Given the description of an element on the screen output the (x, y) to click on. 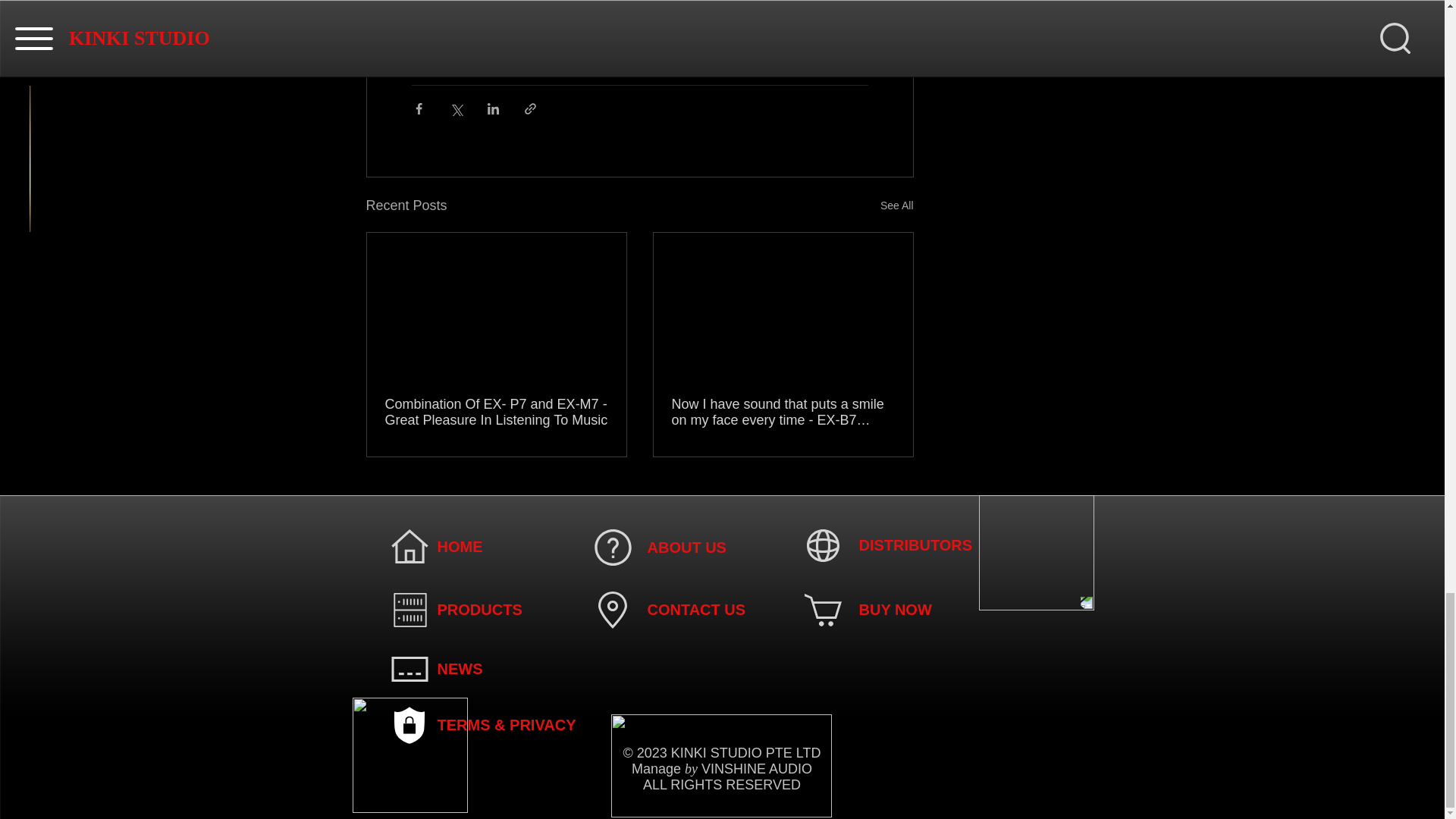
See All (897, 205)
